Given the description of an element on the screen output the (x, y) to click on. 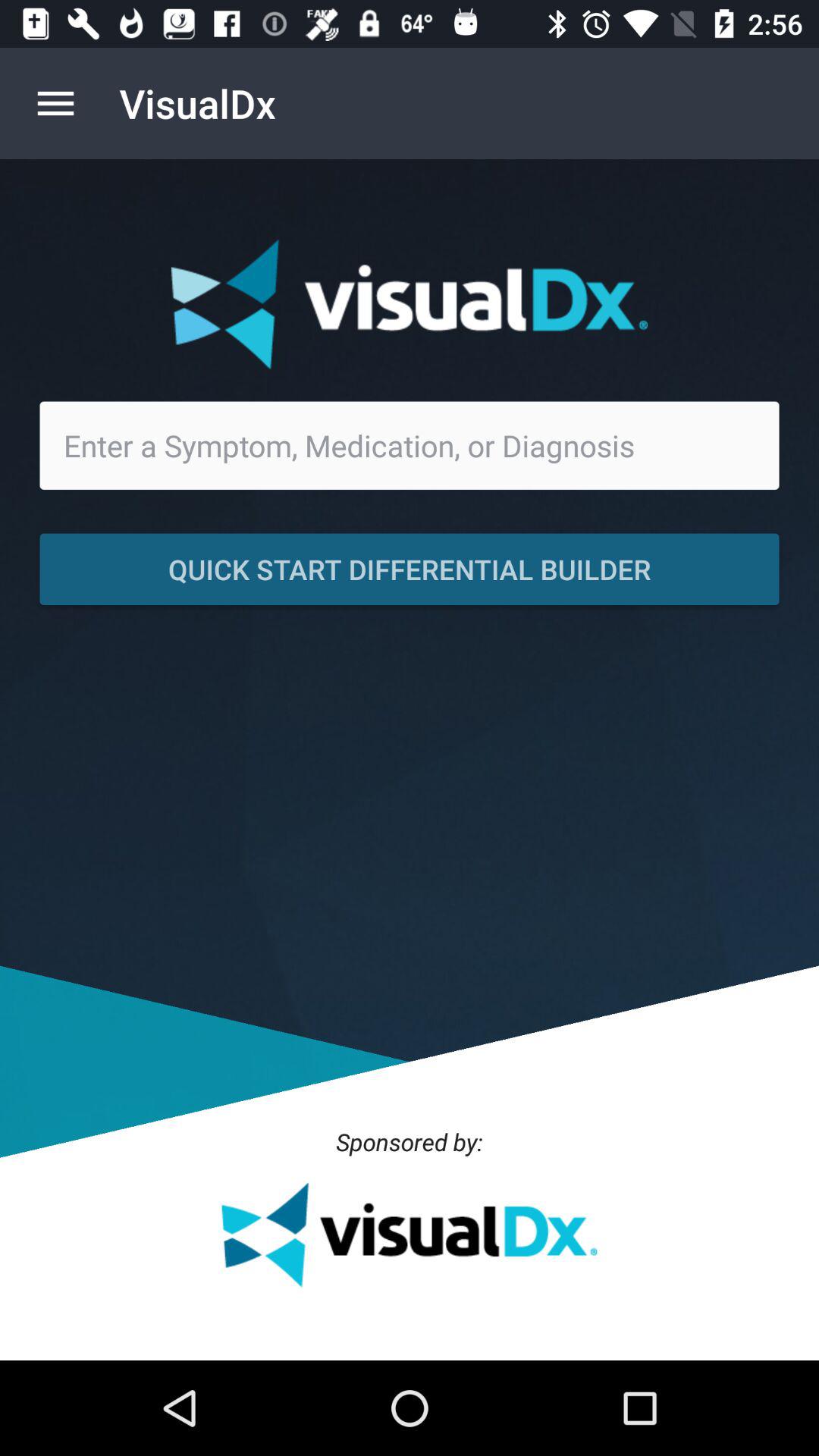
click to search box (409, 445)
